Given the description of an element on the screen output the (x, y) to click on. 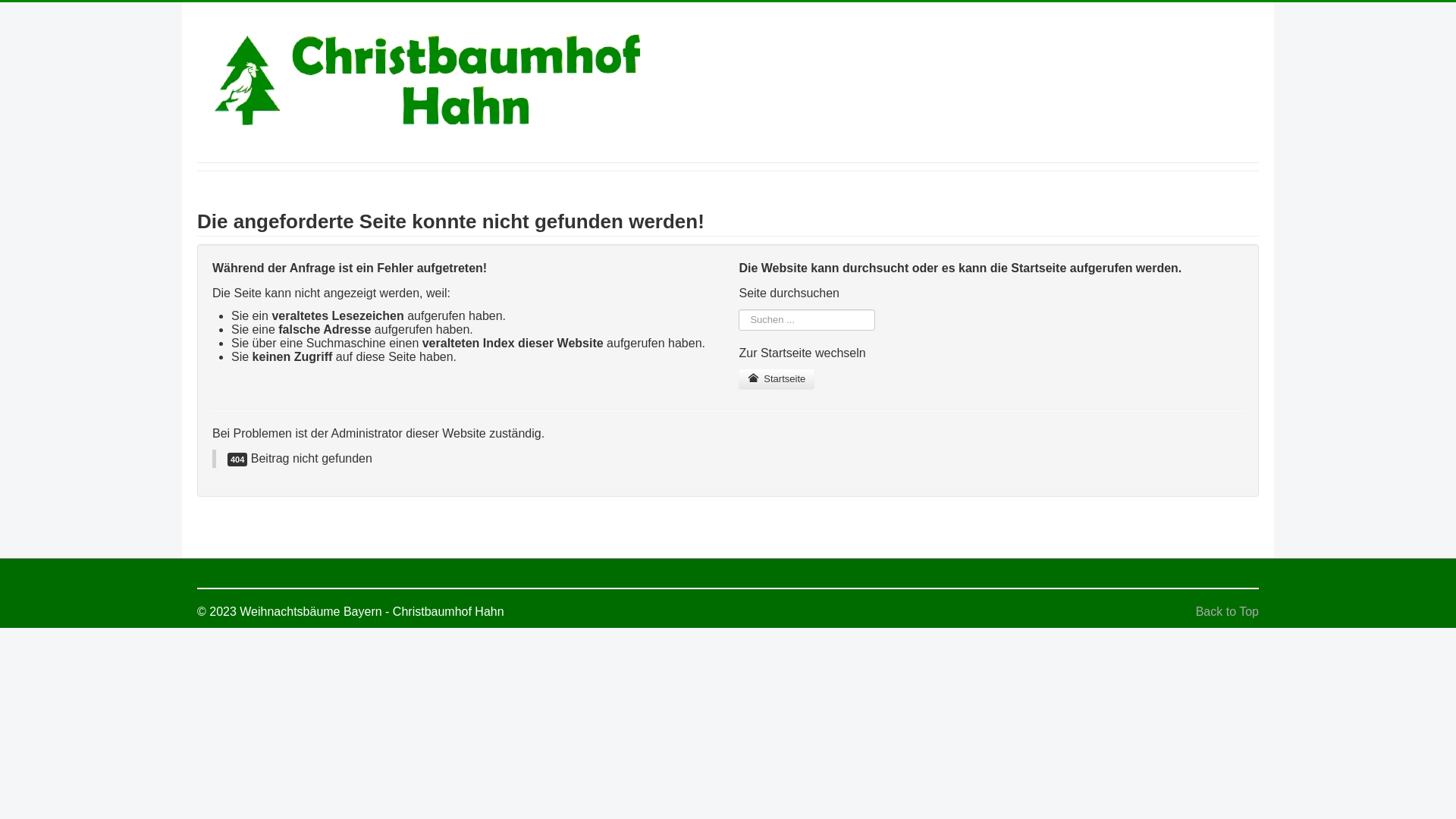
Startseite Element type: text (776, 379)
Back to Top Element type: text (1226, 611)
